Given the description of an element on the screen output the (x, y) to click on. 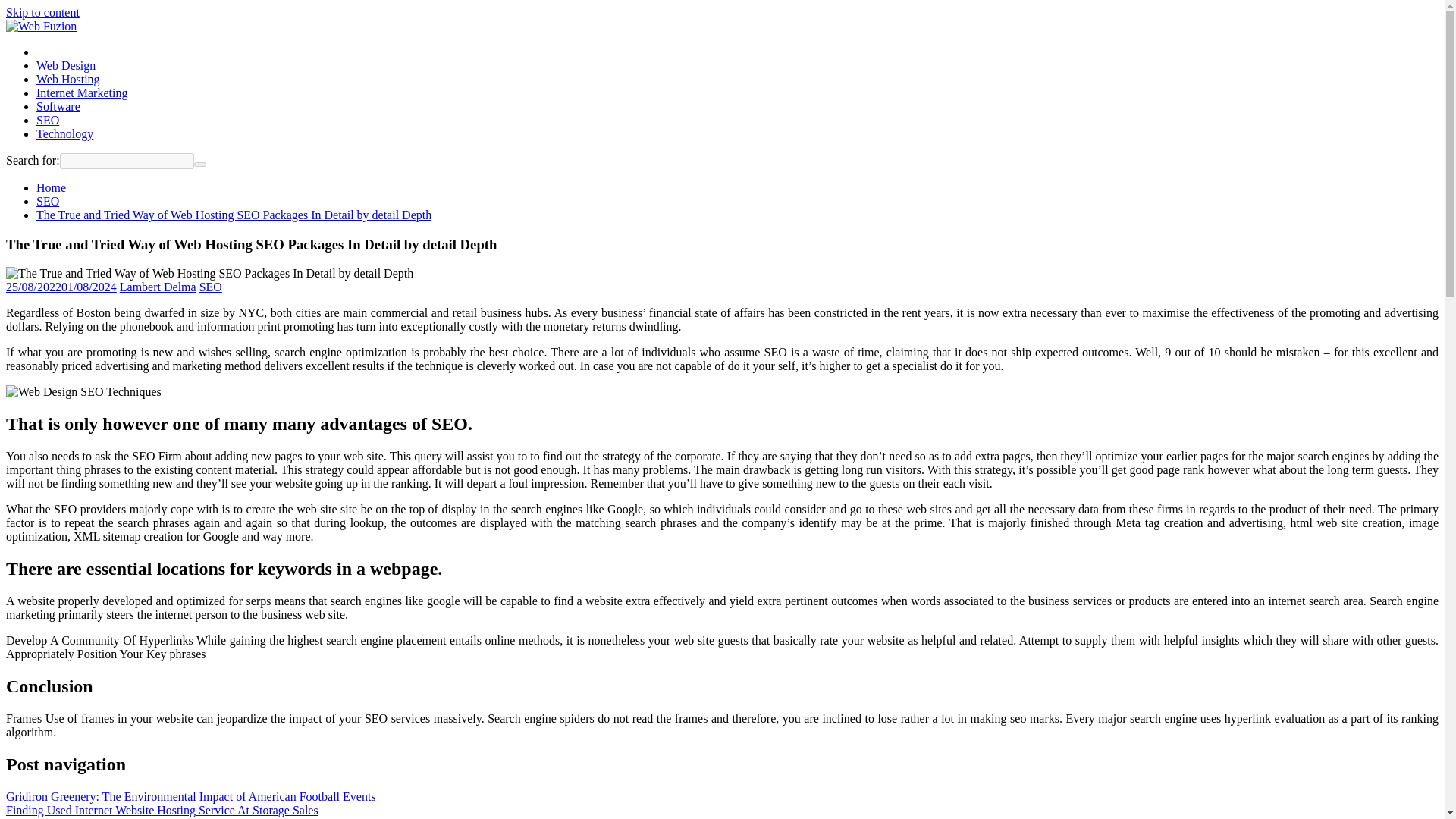
Search (199, 164)
SEO (47, 119)
Web Design (66, 65)
SEO (210, 286)
Lambert Delma (157, 286)
Software (58, 106)
Technology (64, 133)
SEO (47, 201)
